Given the description of an element on the screen output the (x, y) to click on. 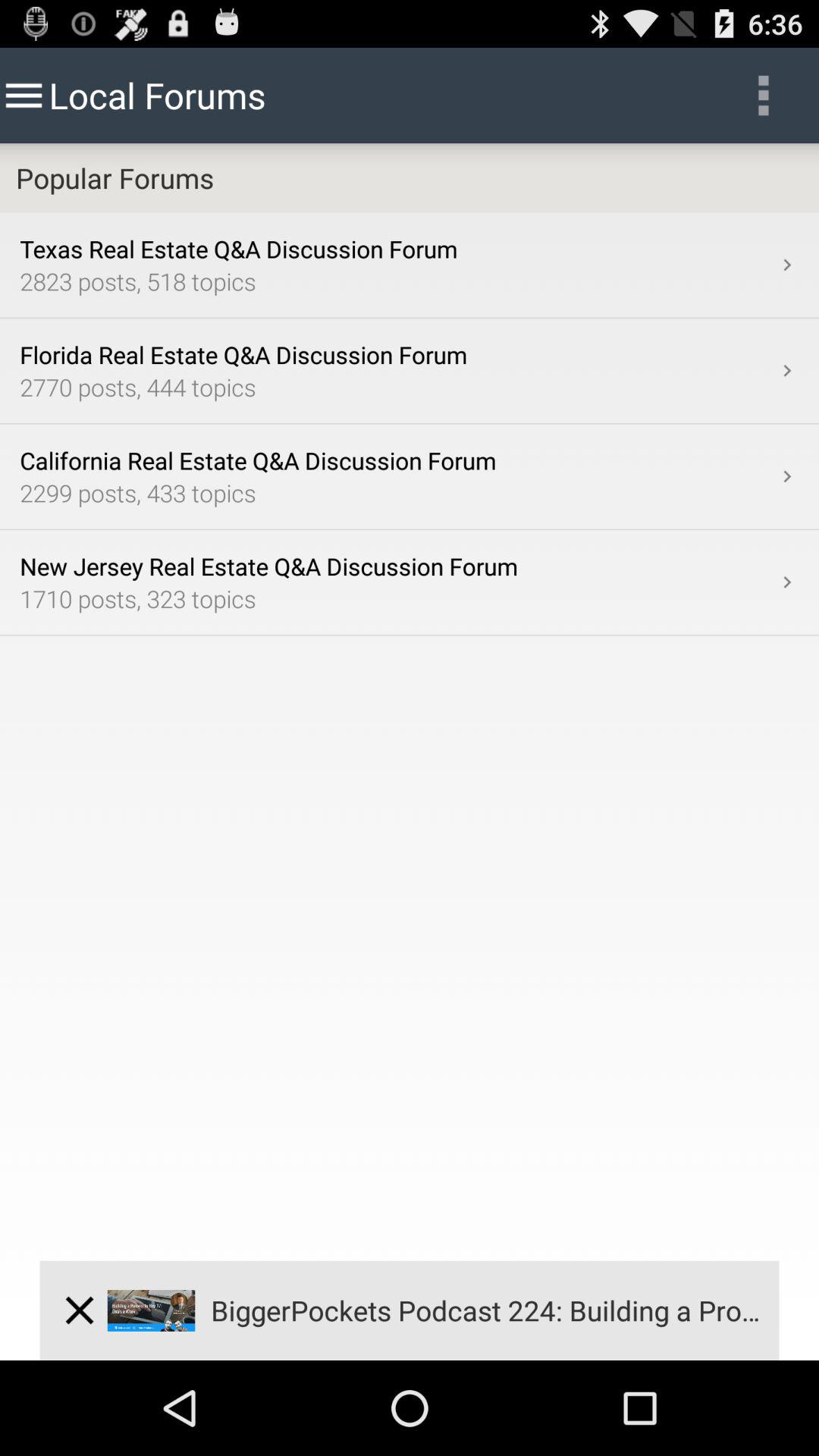
open the item on the right (787, 582)
